Given the description of an element on the screen output the (x, y) to click on. 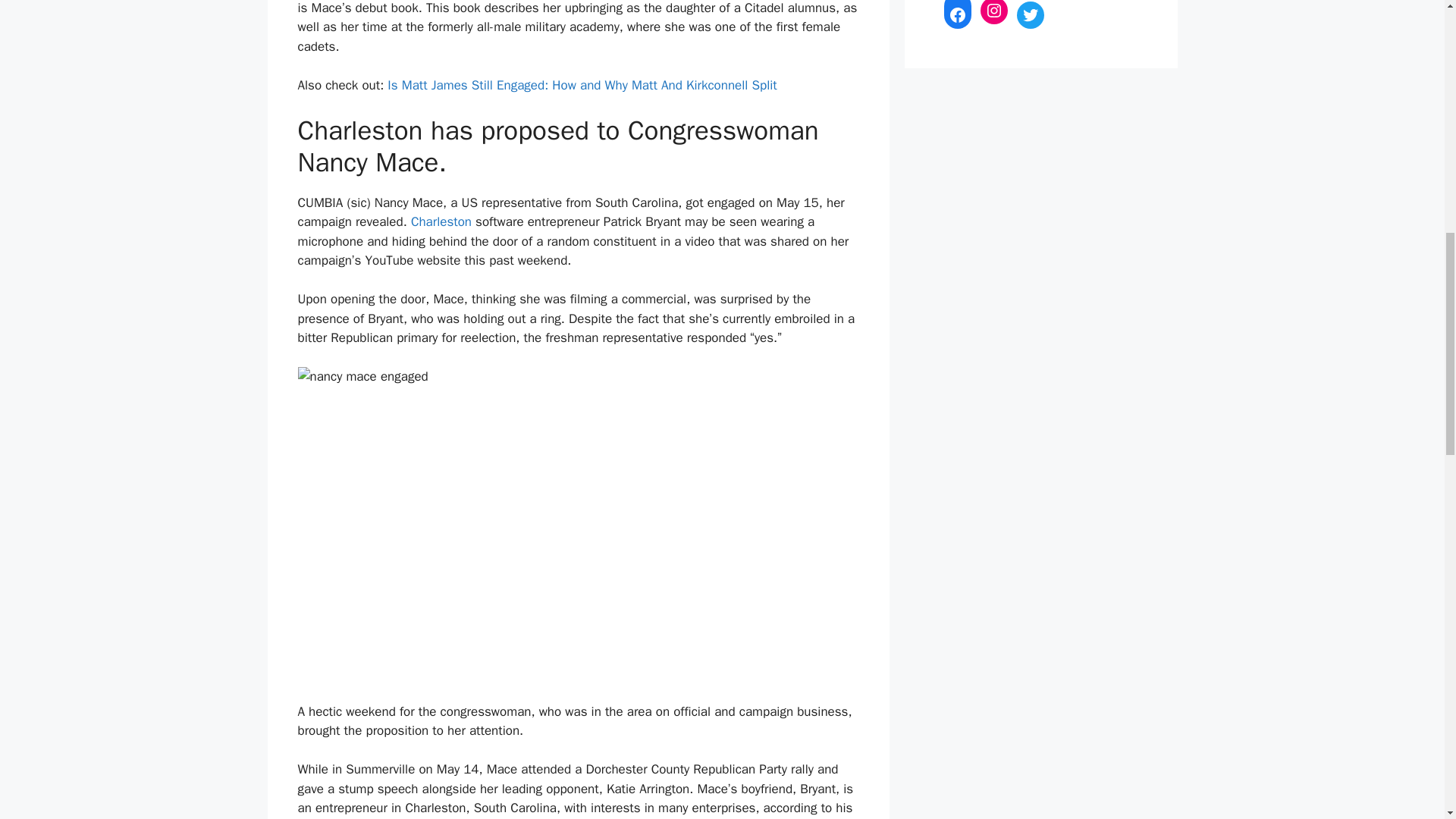
Twitter (1029, 14)
Instagram (993, 12)
Charleston (440, 221)
Facebook (957, 14)
